Given the description of an element on the screen output the (x, y) to click on. 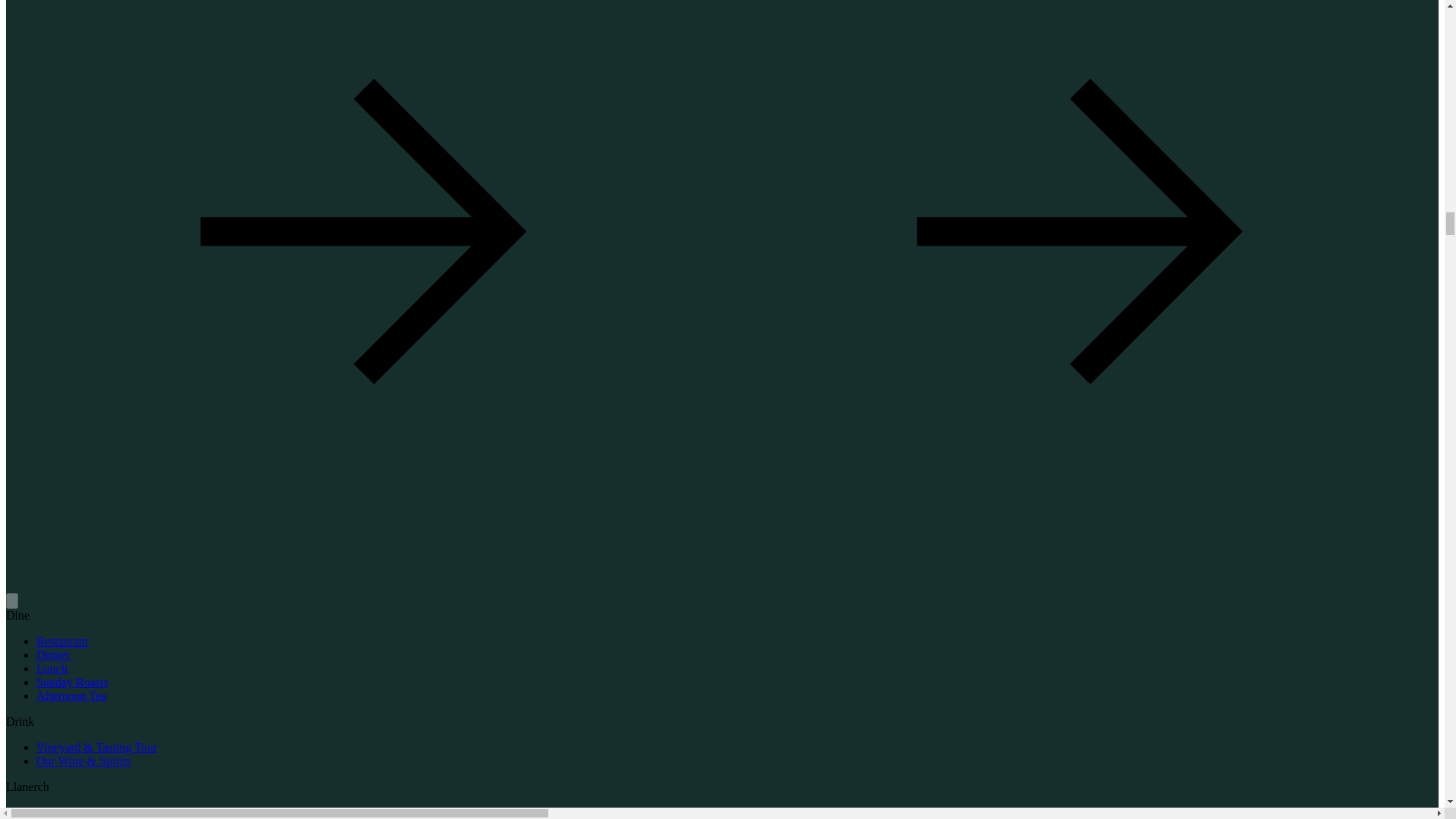
Dinner  (54, 654)
Sunday Roasts (71, 681)
Restaurant (61, 640)
Lunch  (52, 667)
